Given the description of an element on the screen output the (x, y) to click on. 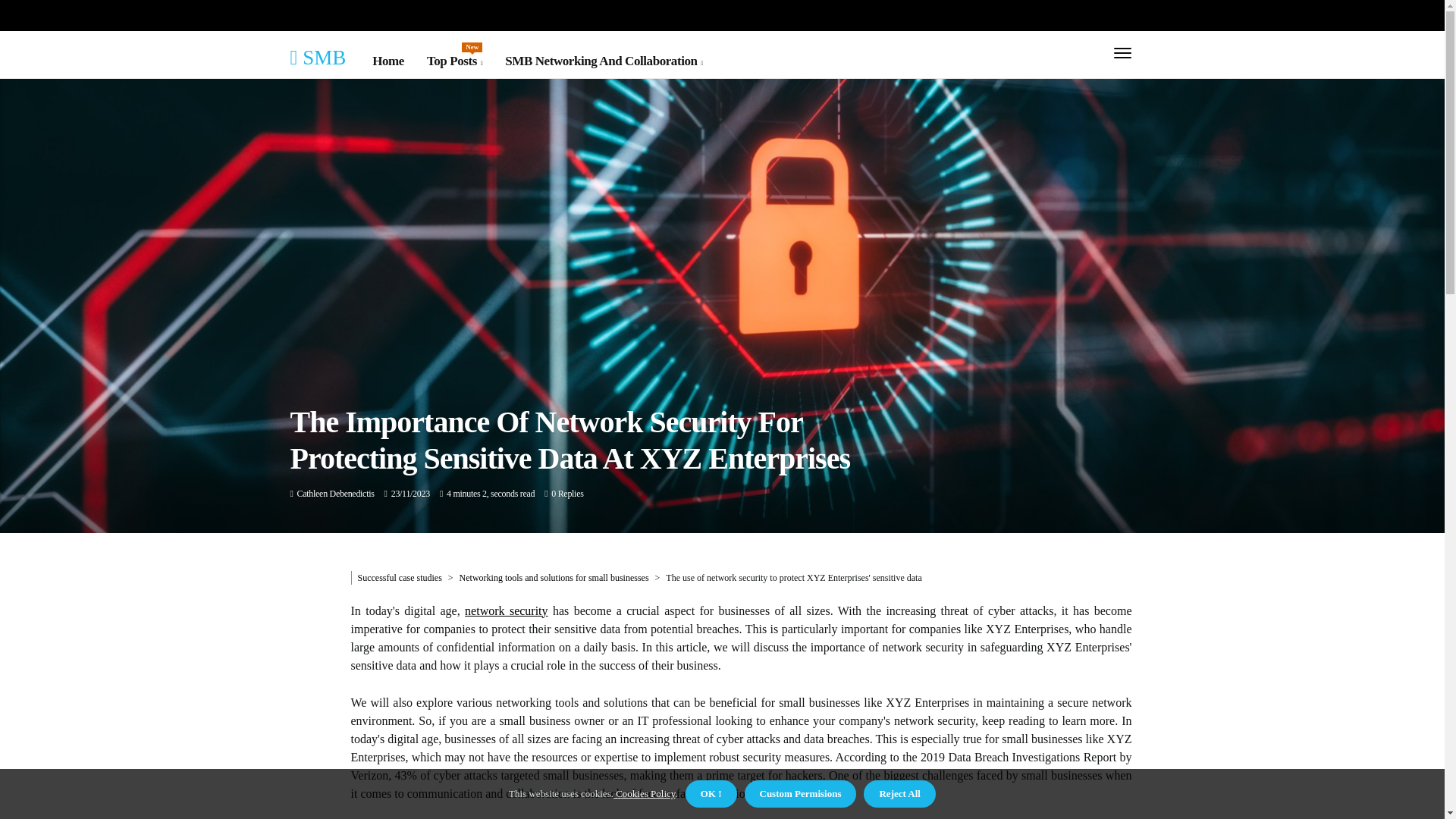
SMB Networking And Collaboration (604, 61)
SMB (317, 56)
Posts by Cathleen Debenedictis (453, 61)
